Given the description of an element on the screen output the (x, y) to click on. 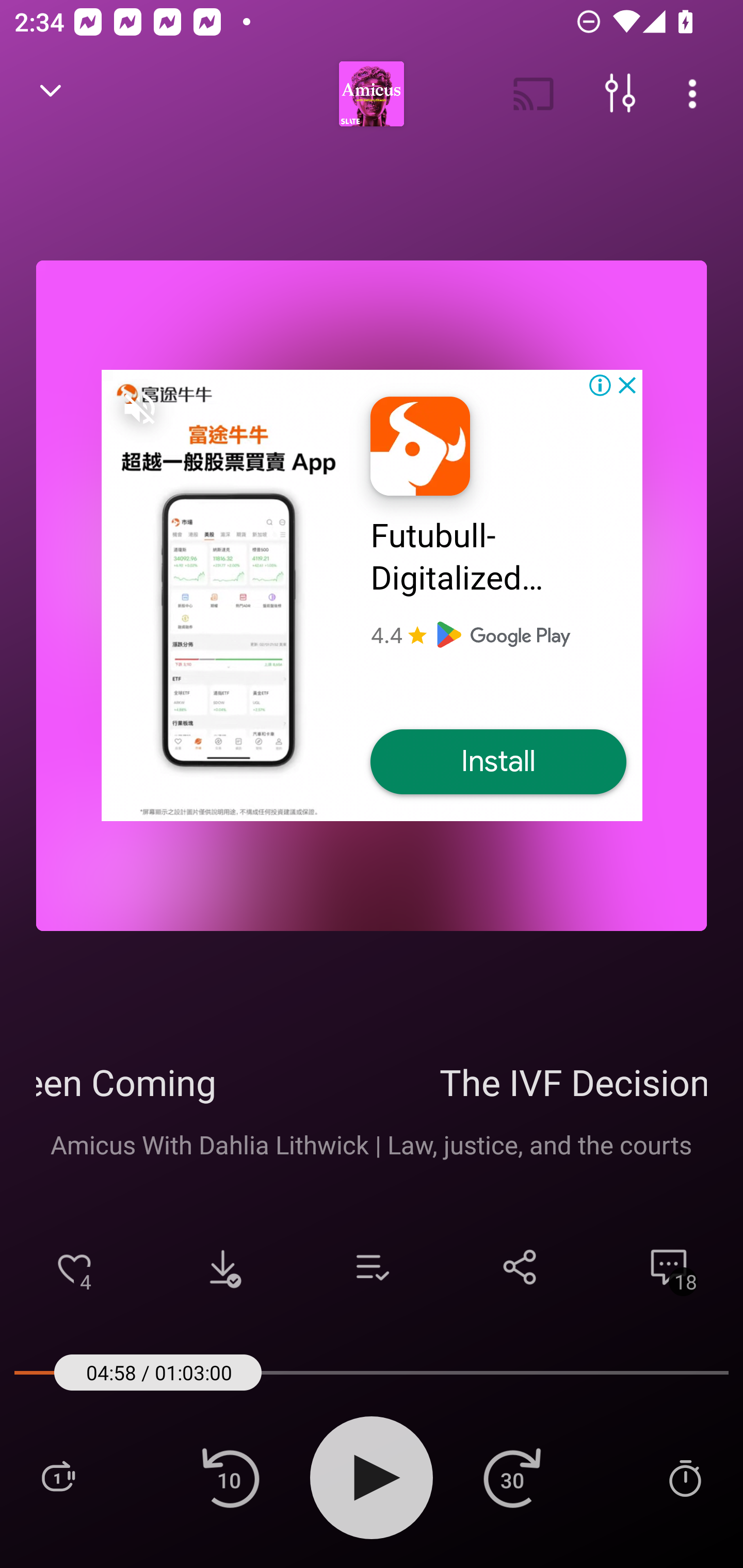
Cast. Disconnected (533, 93)
 Back (50, 94)
Futubull-
Digitalized… 4.4 Install Install (371, 595)
Install (498, 762)
The IVF Decision We Should Have Seen Coming (371, 1081)
18 Comments (668, 1266)
Add to Favorites (73, 1266)
Add to playlist (371, 1266)
Share (519, 1266)
 Playlist (57, 1477)
Sleep Timer  (684, 1477)
